Given the description of an element on the screen output the (x, y) to click on. 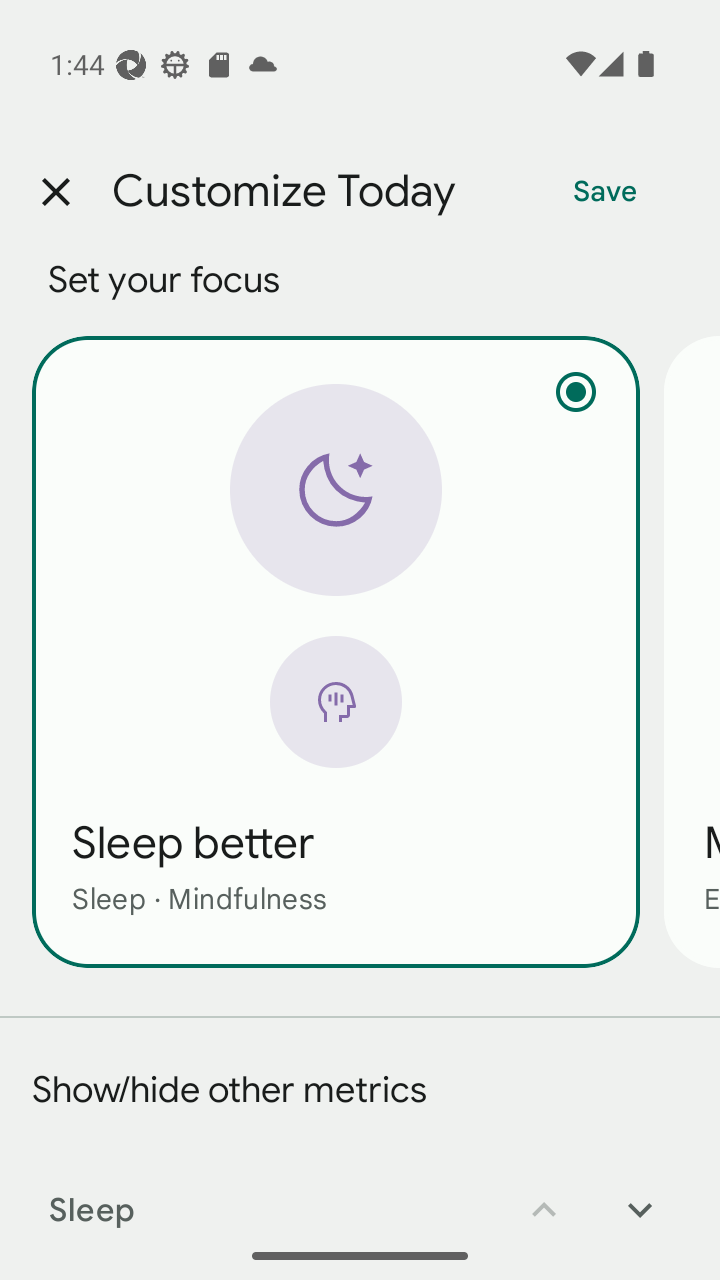
Close (55, 191)
Save (605, 191)
Sleep better Sleep · Mindfulness (335, 651)
Move Sleep up (543, 1196)
Move Sleep down (639, 1196)
